Given the description of an element on the screen output the (x, y) to click on. 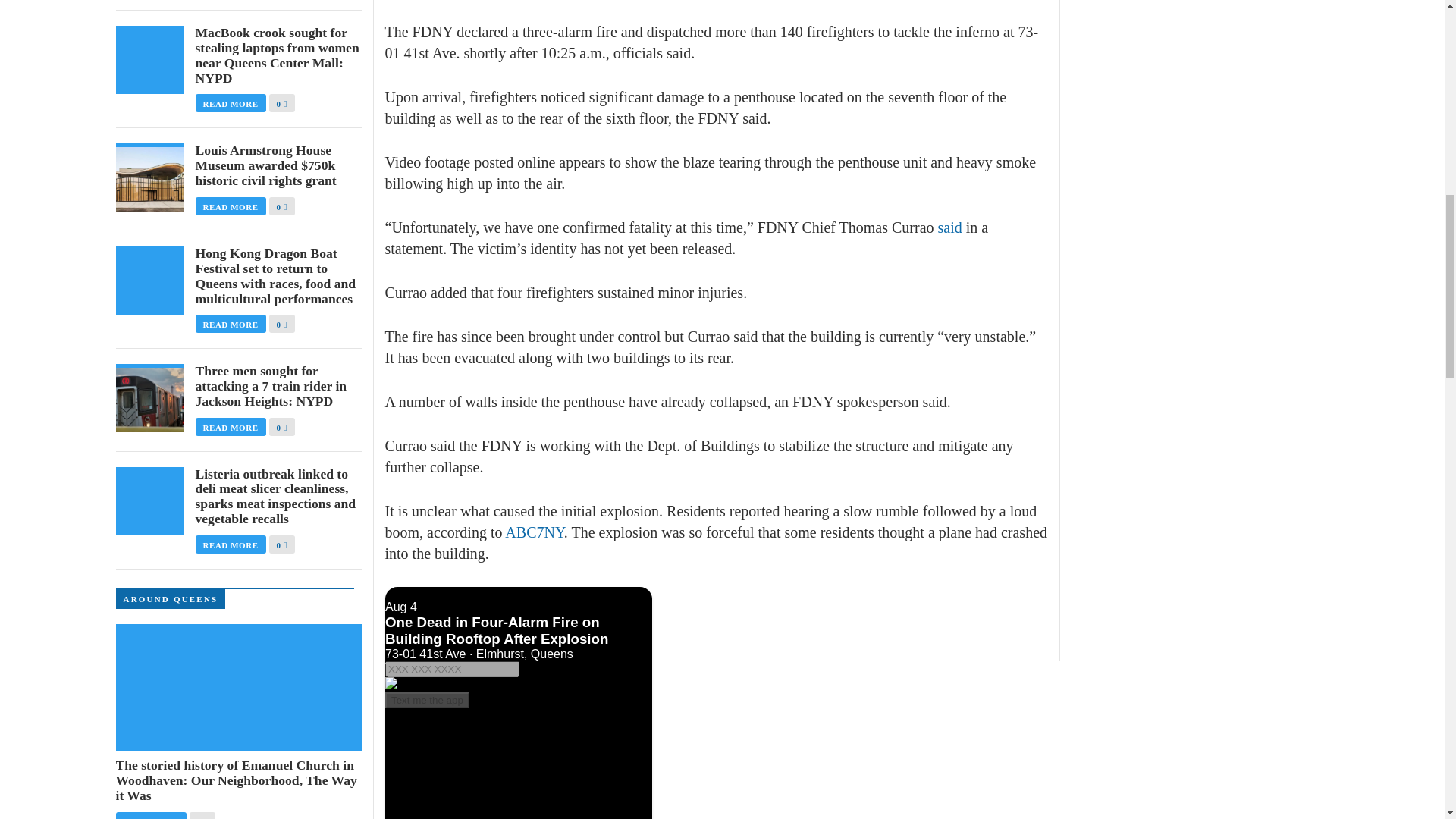
said (949, 227)
ABC7NY (534, 532)
